Given the description of an element on the screen output the (x, y) to click on. 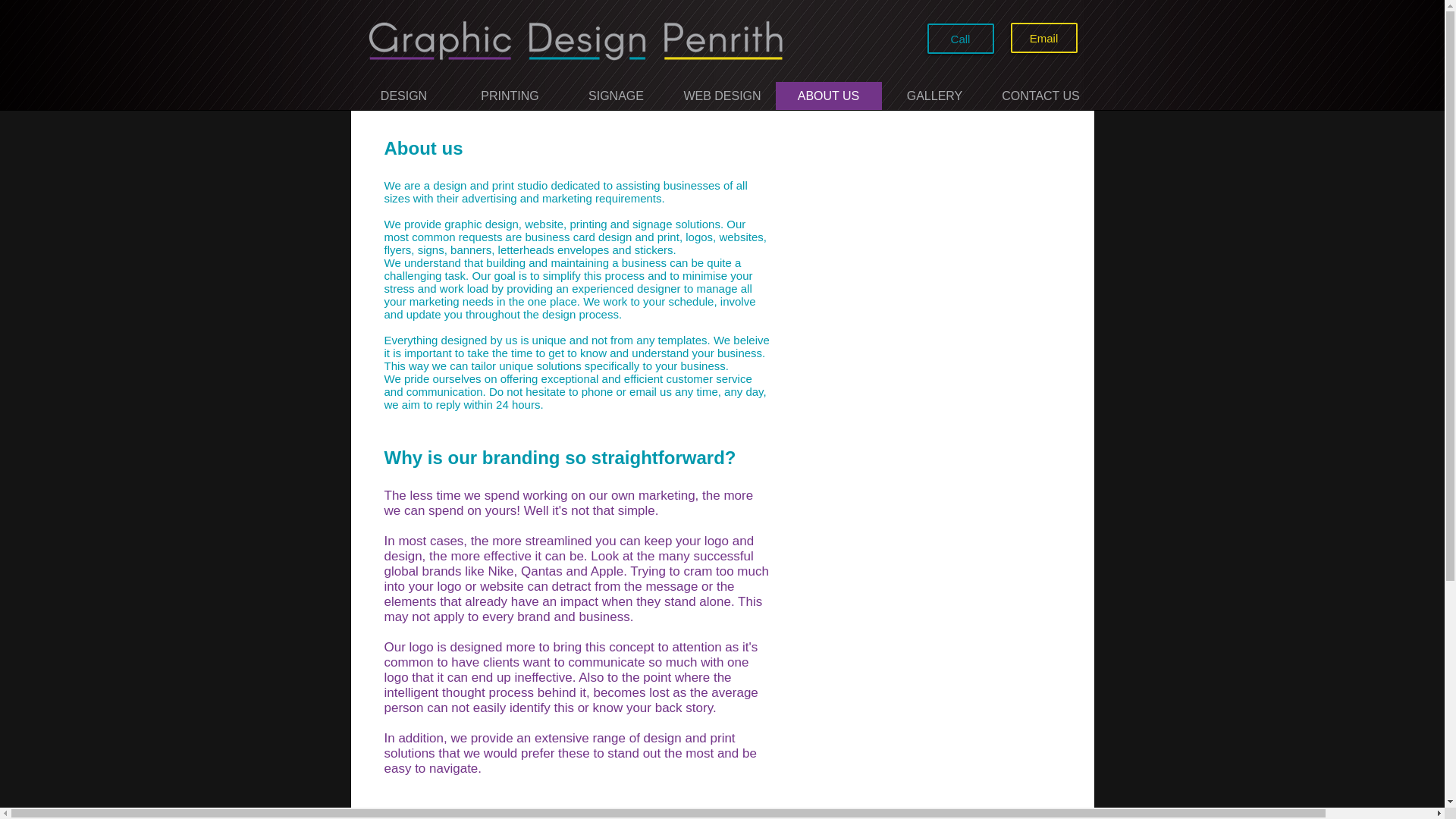
SIGNAGE (615, 95)
design process (579, 314)
PRINTING (509, 95)
graphic design (481, 223)
GALLERY (933, 95)
ABOUT US (827, 95)
printing (588, 223)
website (543, 223)
WEB DESIGN (721, 95)
Call (959, 38)
